Given the description of an element on the screen output the (x, y) to click on. 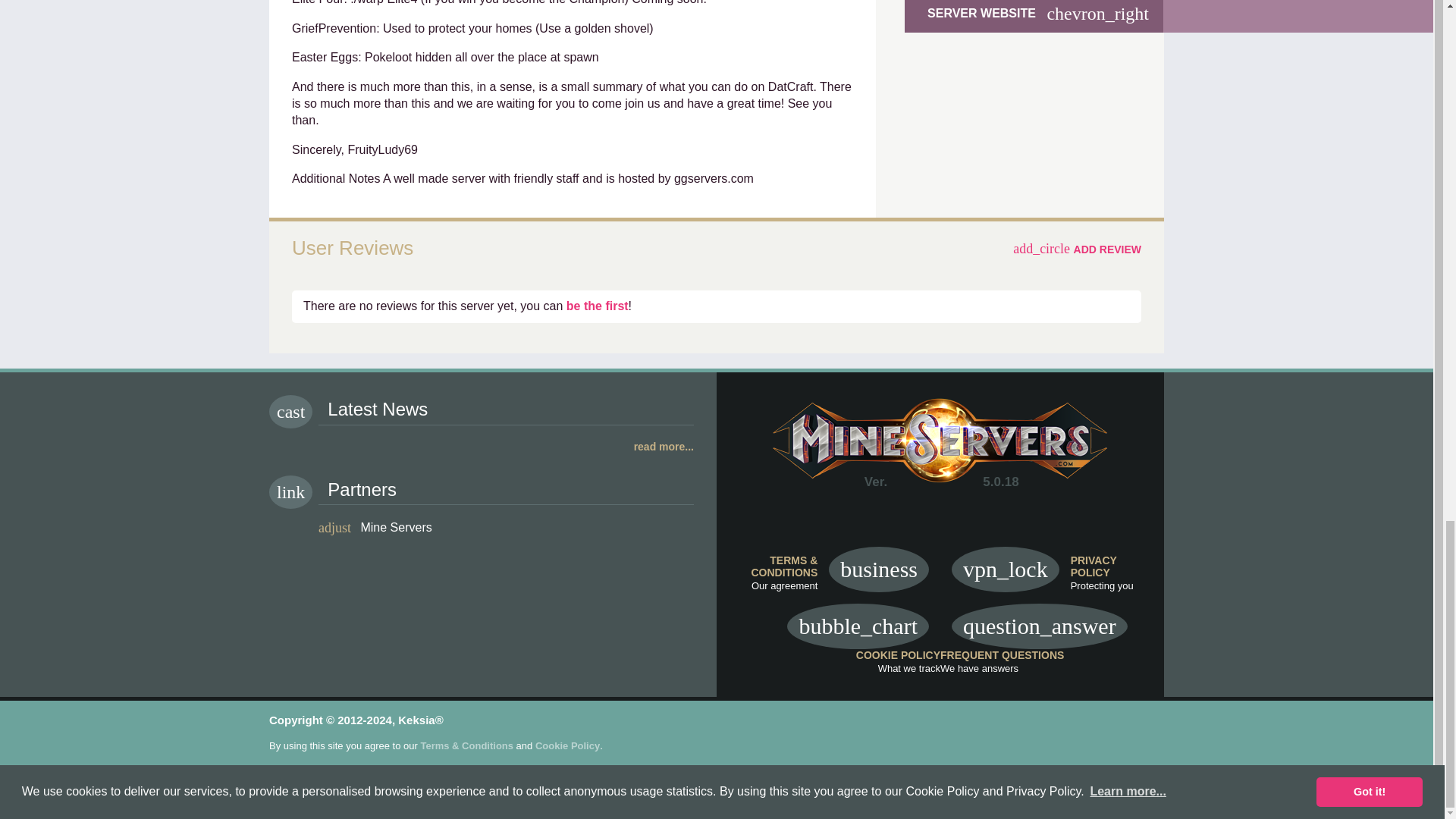
read more... (481, 446)
adjust Mine Servers (375, 526)
be the first (597, 305)
Cookie Policy (567, 745)
